Given the description of an element on the screen output the (x, y) to click on. 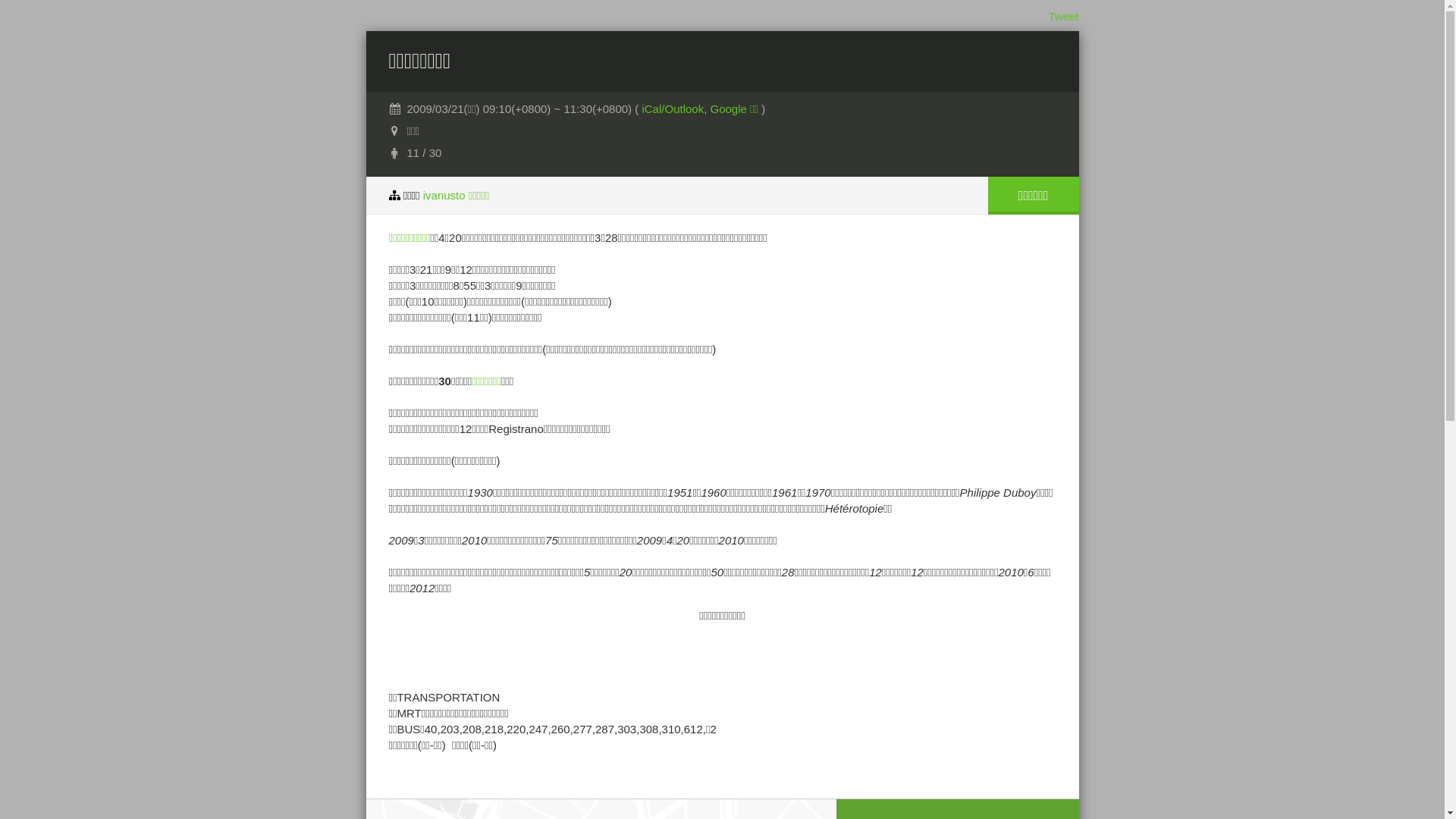
Tweet Element type: text (1063, 15)
iCal/Outlook Element type: text (672, 108)
